Given the description of an element on the screen output the (x, y) to click on. 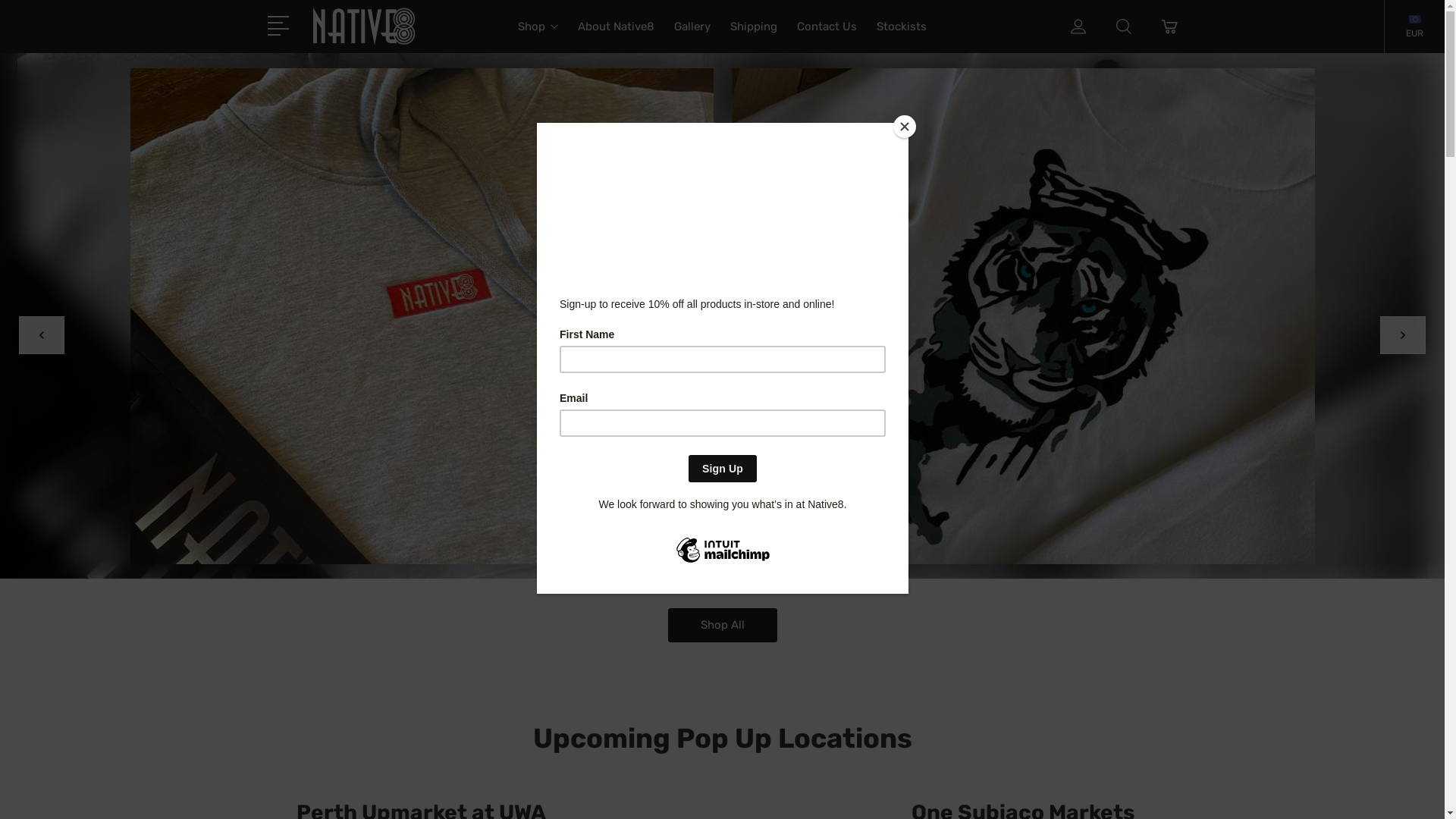
Contact Us Element type: text (826, 35)
Stockists Element type: text (901, 35)
About Native8 Element type: text (615, 35)
EUR Element type: text (1414, 32)
Gallery Element type: text (692, 35)
Shop Element type: text (537, 35)
Shipping Element type: text (753, 35)
Shop All Element type: text (721, 625)
